Given the description of an element on the screen output the (x, y) to click on. 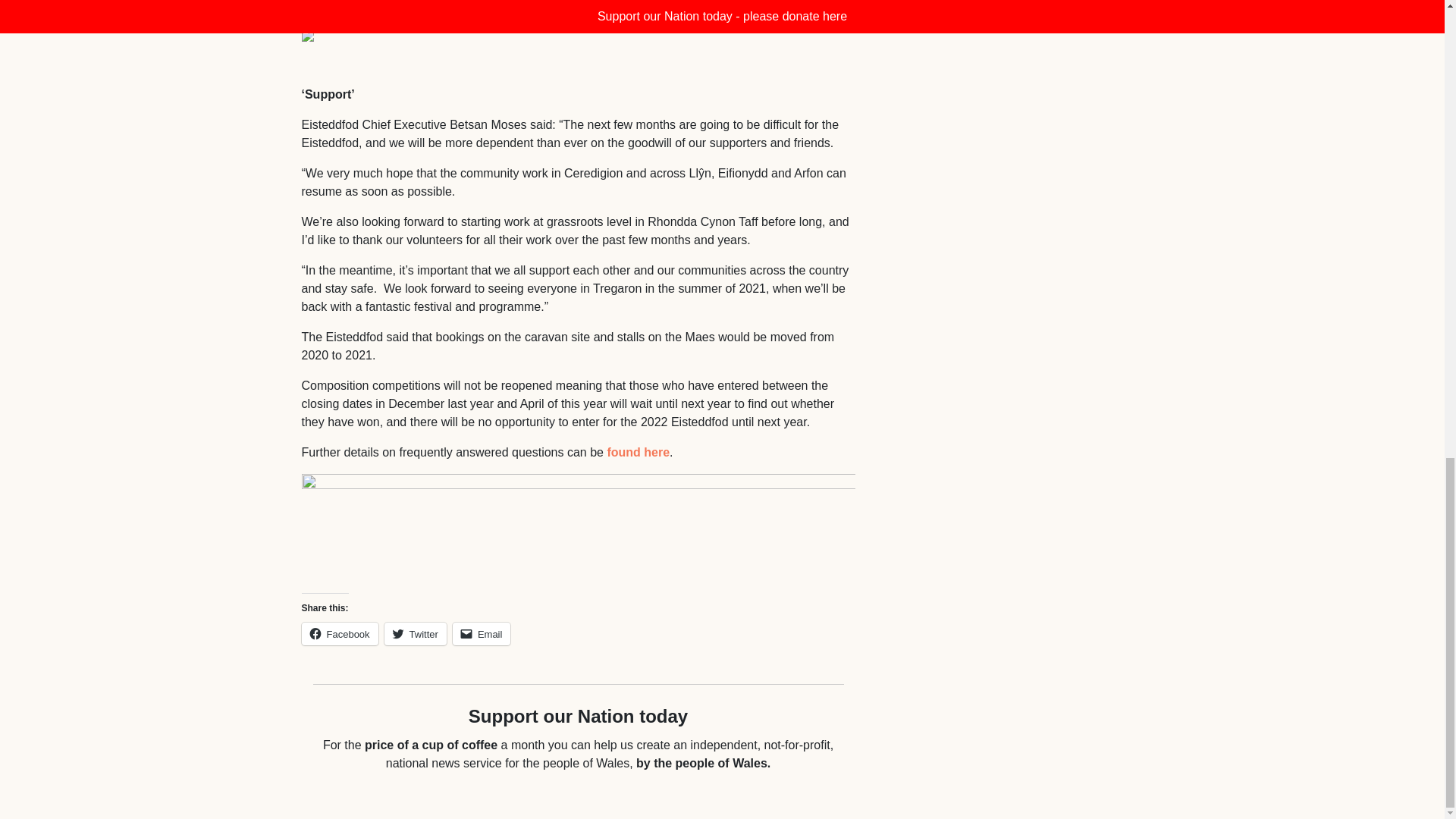
Twitter (415, 633)
Facebook (339, 633)
found here (638, 451)
Click to share on Twitter (415, 633)
Email (481, 633)
Click to share on Facebook (339, 633)
Click to email a link to a friend (481, 633)
